Given the description of an element on the screen output the (x, y) to click on. 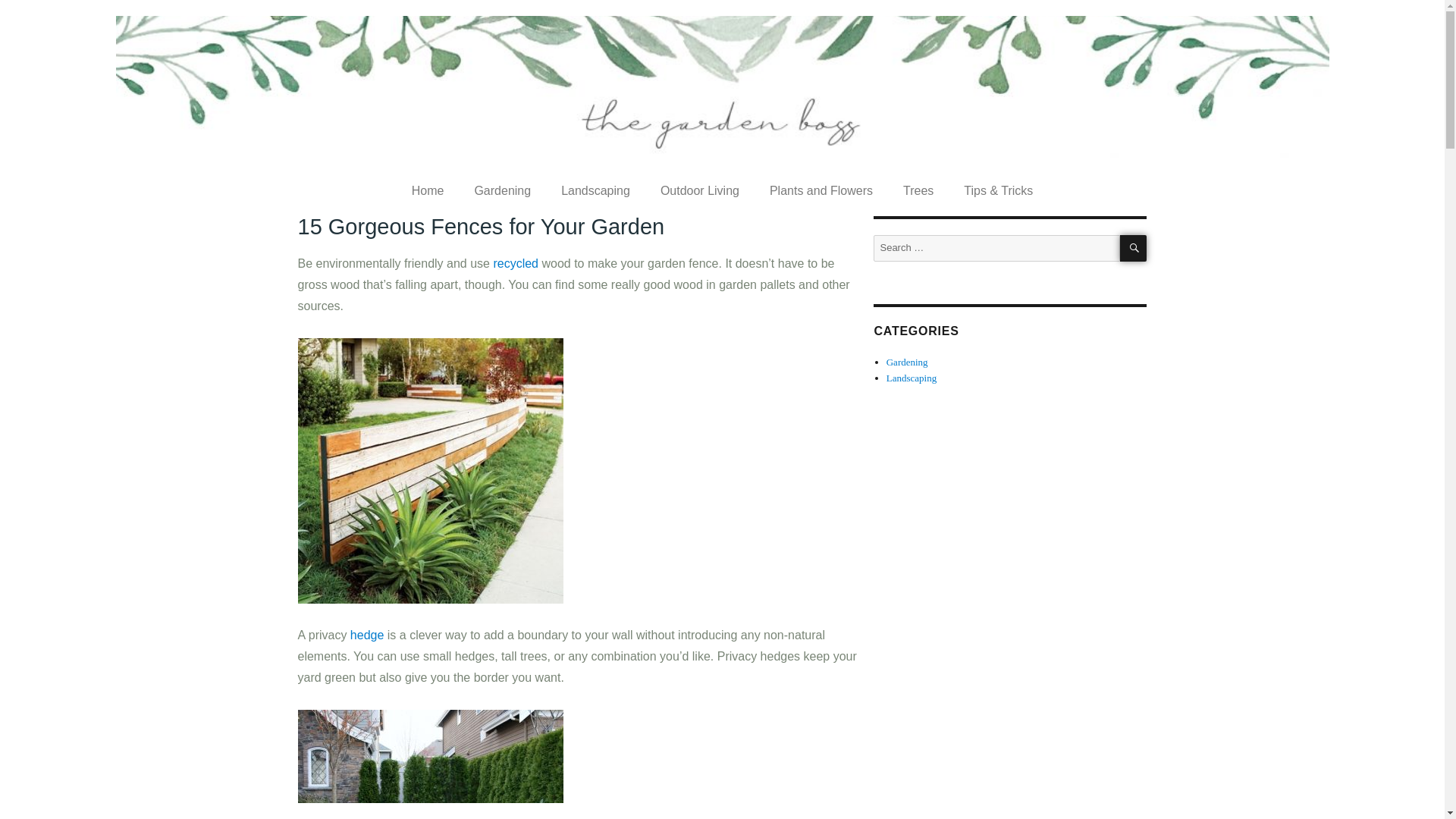
hedge (368, 634)
Plants and Flowers (821, 190)
Landscaping (911, 378)
Gardening (502, 190)
Outdoor Living (699, 190)
Gardening (907, 361)
Trees (918, 190)
Landscaping (595, 190)
Home (428, 190)
recycled (517, 263)
